Given the description of an element on the screen output the (x, y) to click on. 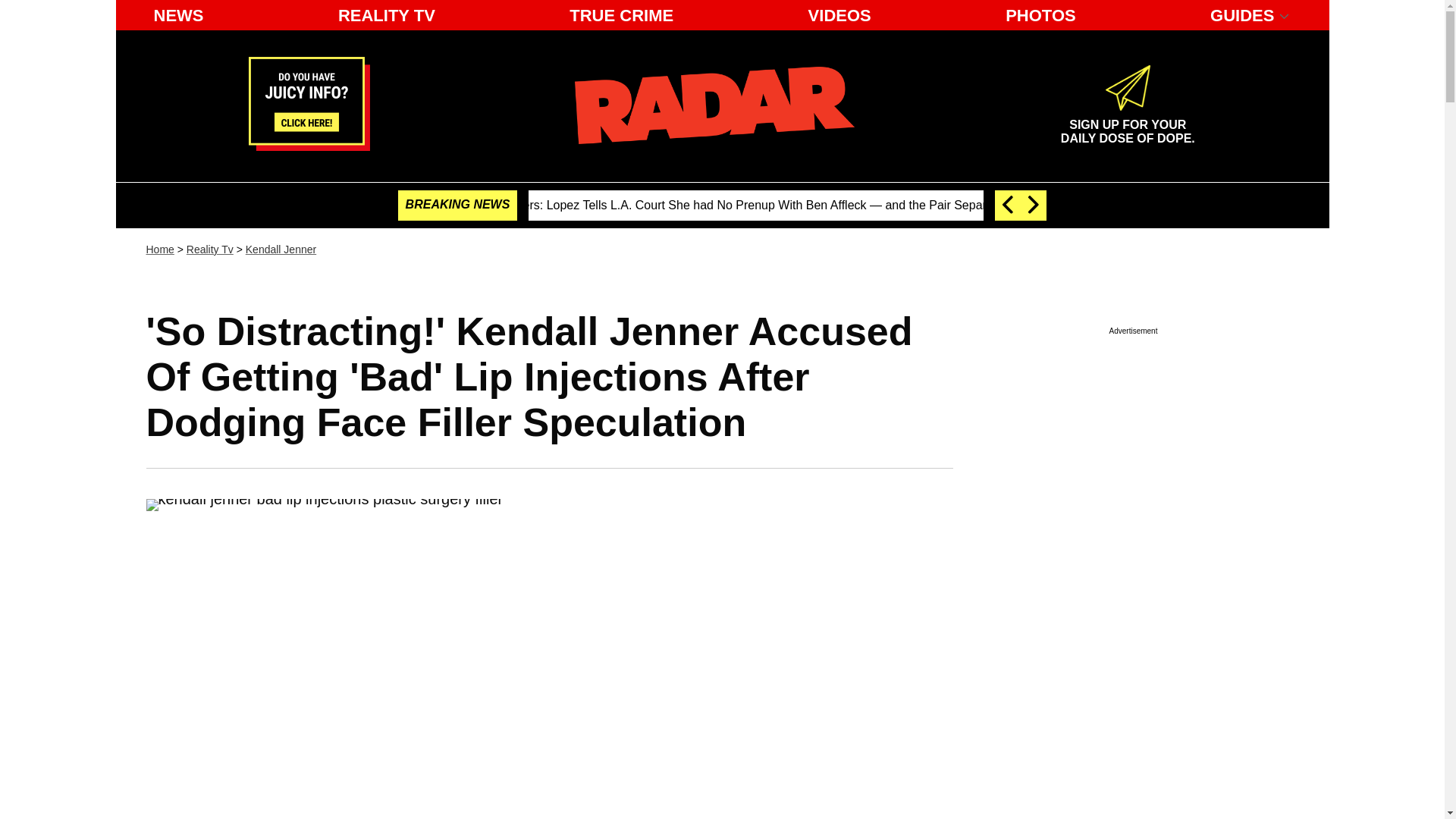
Kendall Jenner (280, 249)
Radar Online (714, 105)
Home (159, 249)
REALITY TV (386, 15)
NEWS (178, 15)
PHOTOS (1040, 15)
TRUE CRIME (621, 15)
Sign up for your daily dose of dope. (1127, 124)
Email us your tip (308, 146)
VIDEOS (839, 15)
